Given the description of an element on the screen output the (x, y) to click on. 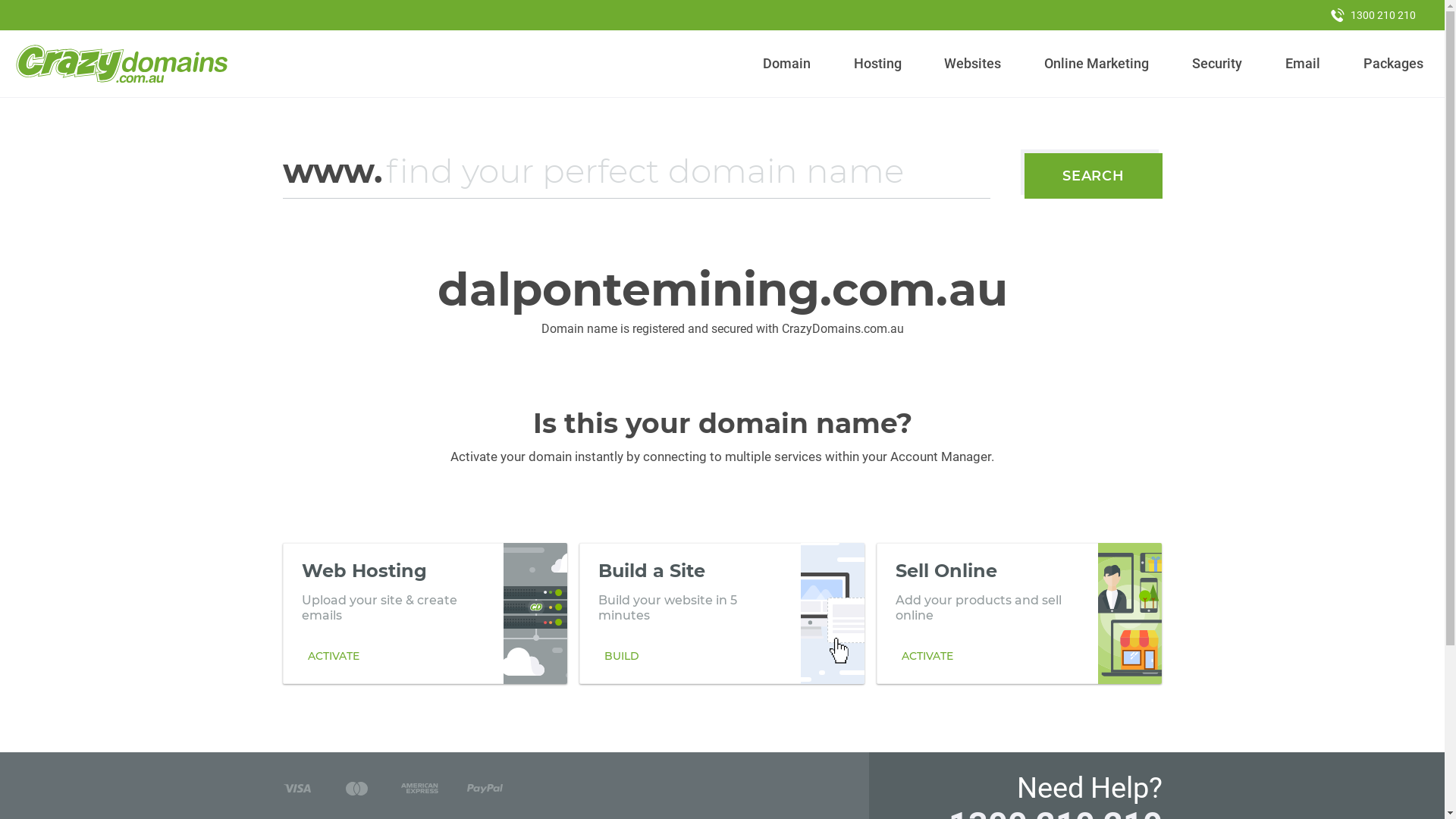
Sell Online
Add your products and sell online
ACTIVATE Element type: text (1018, 613)
1300 210 210 Element type: text (1373, 15)
SEARCH Element type: text (1092, 175)
Web Hosting
Upload your site & create emails
ACTIVATE Element type: text (424, 613)
Email Element type: text (1302, 63)
Security Element type: text (1217, 63)
Online Marketing Element type: text (1096, 63)
Hosting Element type: text (877, 63)
Websites Element type: text (972, 63)
Build a Site
Build your website in 5 minutes
BUILD Element type: text (721, 613)
Packages Element type: text (1392, 63)
Domain Element type: text (786, 63)
